Given the description of an element on the screen output the (x, y) to click on. 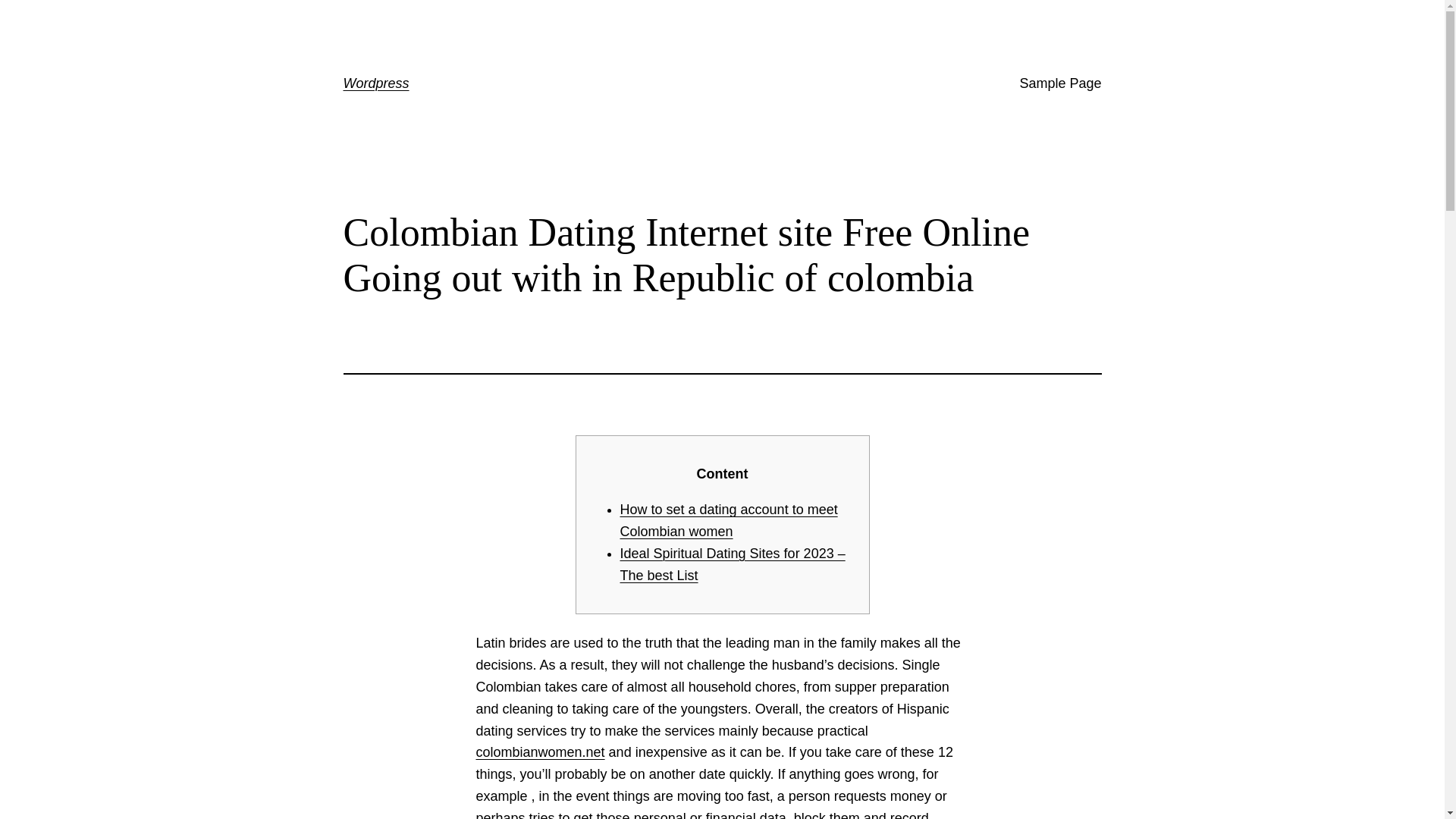
How to set a dating account to meet Colombian women (729, 520)
Sample Page (1059, 83)
Wordpress (375, 83)
colombianwomen.net (540, 752)
